Given the description of an element on the screen output the (x, y) to click on. 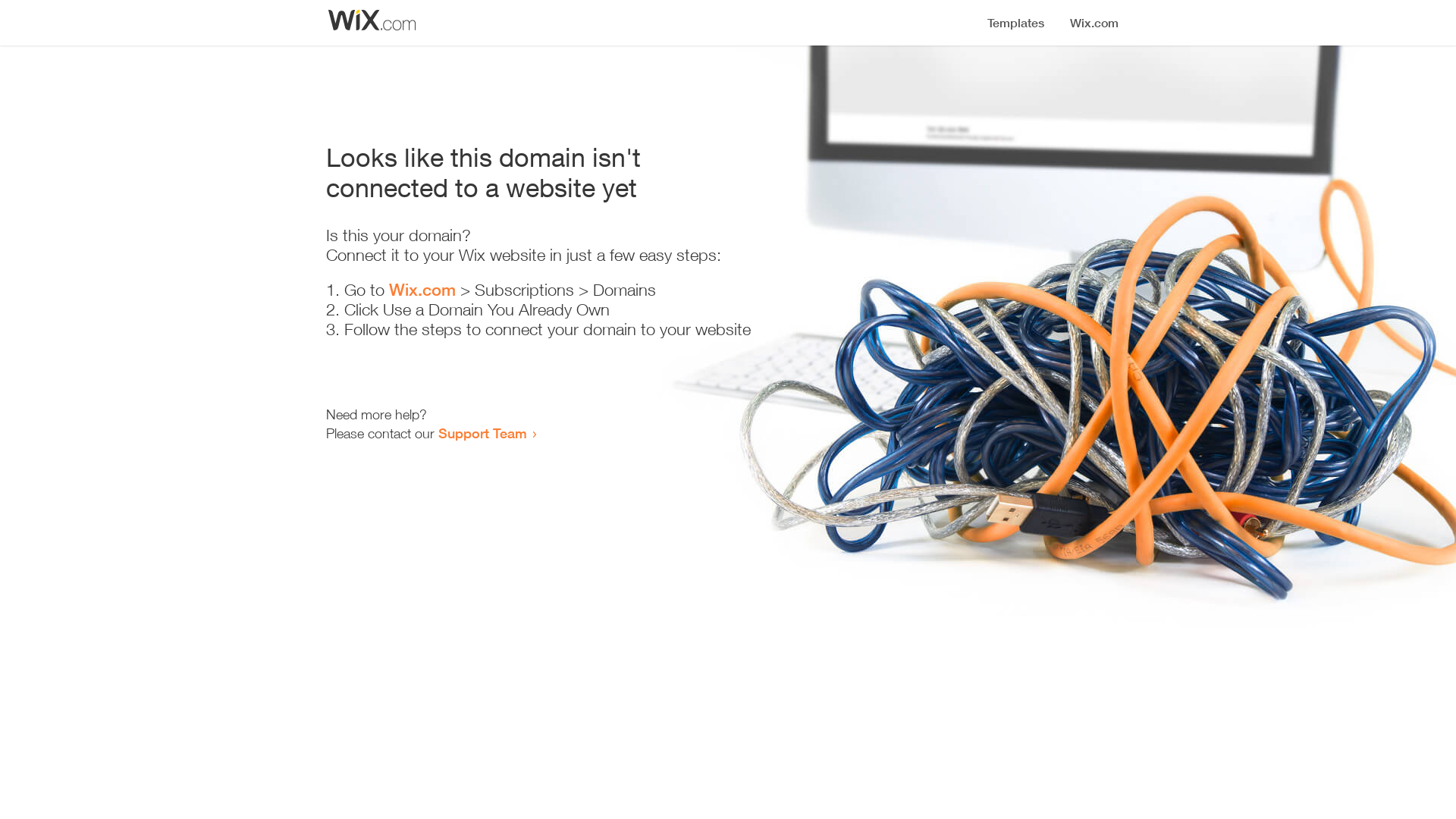
Wix.com Element type: text (422, 289)
Support Team Element type: text (482, 432)
